Given the description of an element on the screen output the (x, y) to click on. 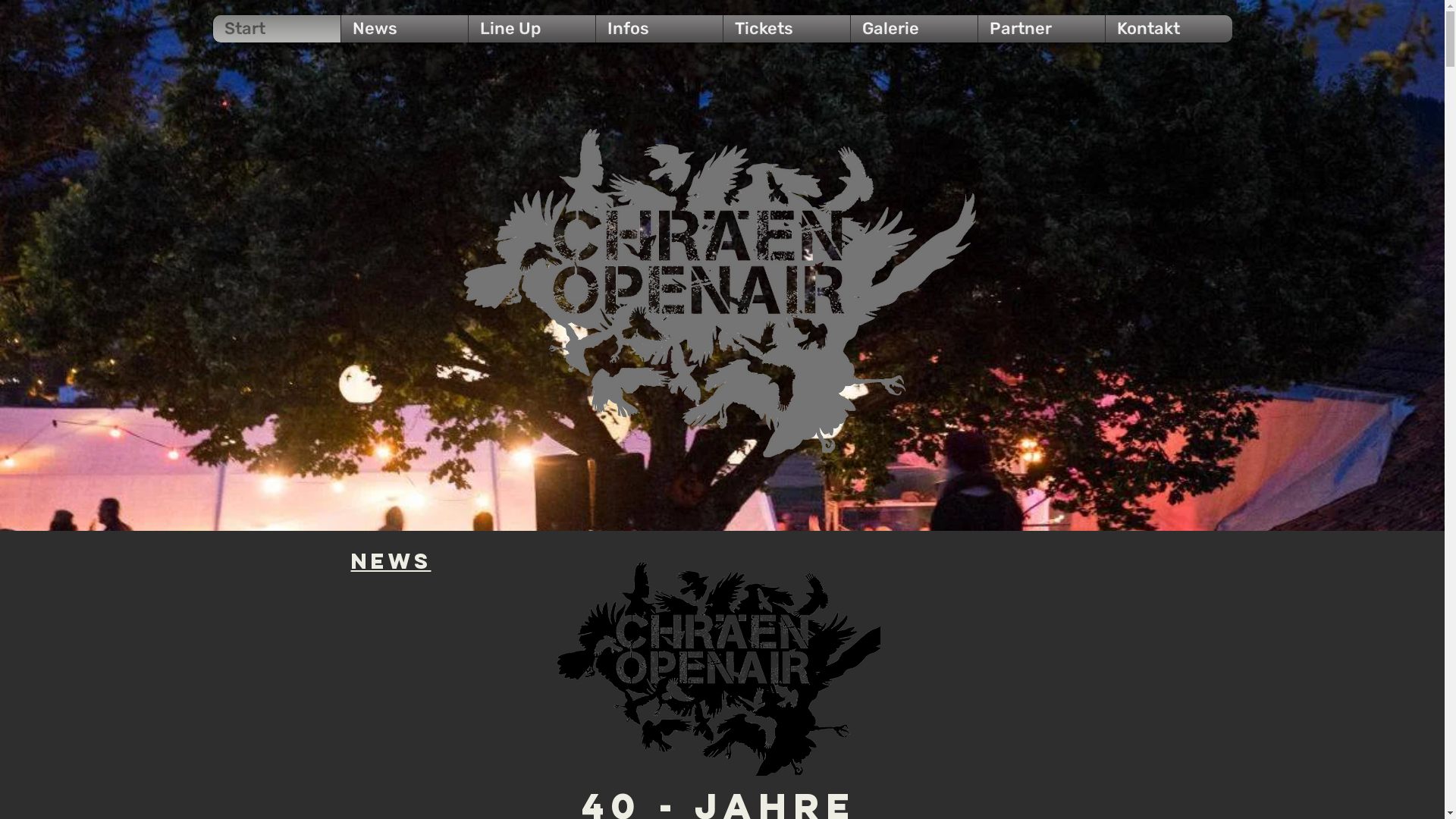
Line Up Element type: text (530, 28)
Kontakt Element type: text (1167, 28)
Start Element type: text (276, 28)
Tickets Element type: text (785, 28)
Infos Element type: text (658, 28)
Partner Element type: text (1040, 28)
Galerie Element type: text (912, 28)
News Element type: text (403, 28)
